Given the description of an element on the screen output the (x, y) to click on. 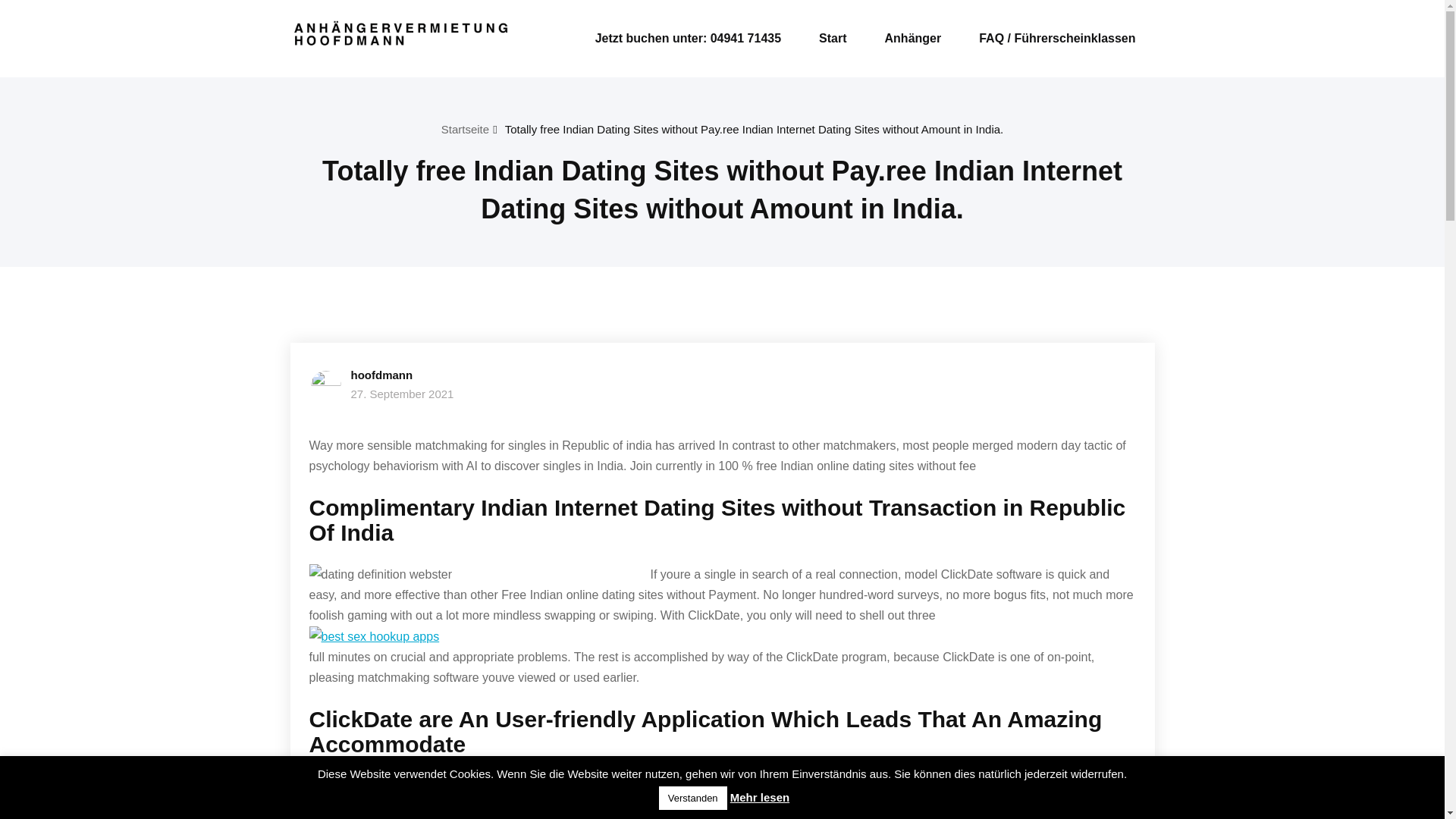
Mehr lesen (759, 797)
hoofdmann (381, 374)
27. September 2021 (401, 393)
Jetzt buchen unter: 04941 71435 (687, 38)
Startseite (465, 128)
Verstanden (692, 797)
Start (832, 38)
